Given the description of an element on the screen output the (x, y) to click on. 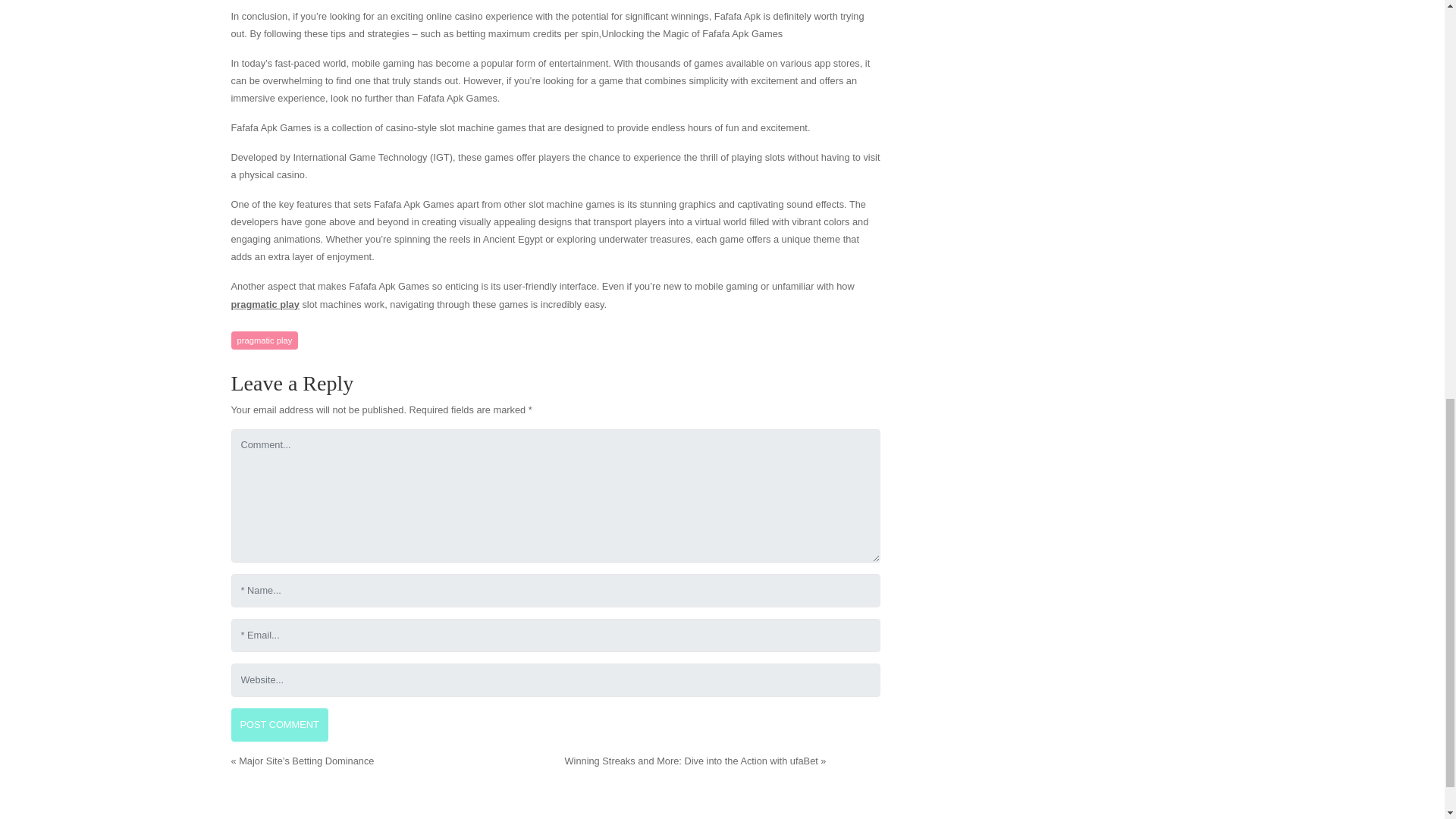
pragmatic play (264, 304)
Post Comment (278, 725)
pragmatic play (264, 340)
Post Comment (278, 725)
Winning Streaks and More: Dive into the Action with ufaBet (690, 760)
